Given the description of an element on the screen output the (x, y) to click on. 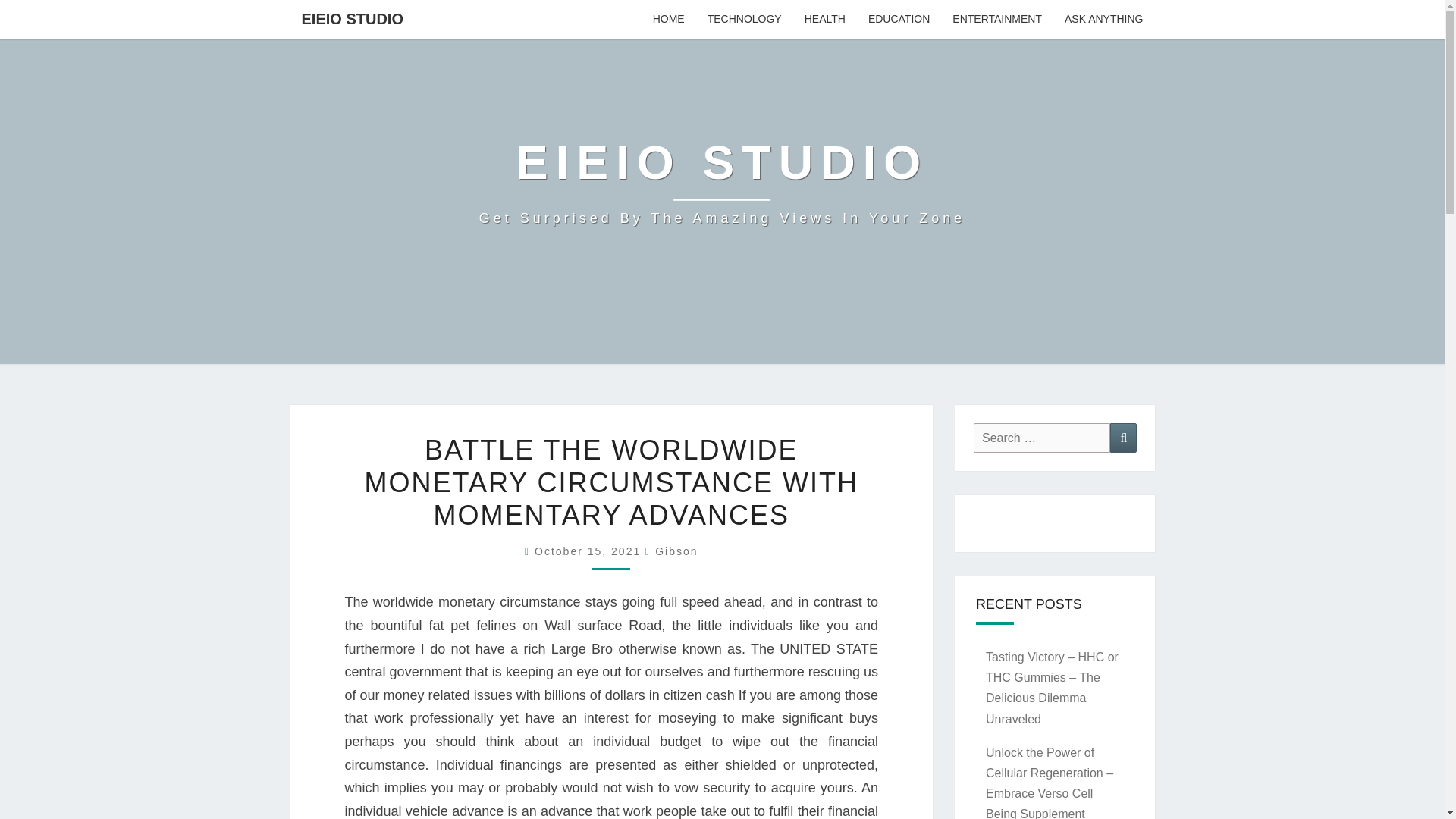
Search (722, 182)
EIEIO STUDIO (1123, 437)
TECHNOLOGY (351, 18)
October 15, 2021 (744, 19)
Gibson (589, 551)
Search for: (676, 551)
EDUCATION (1041, 437)
ENTERTAINMENT (898, 19)
HOME (996, 19)
EIEIO Studio (668, 19)
6:23 am (722, 182)
ASK ANYTHING (589, 551)
HEALTH (1103, 19)
View all posts by Gibson (825, 19)
